Given the description of an element on the screen output the (x, y) to click on. 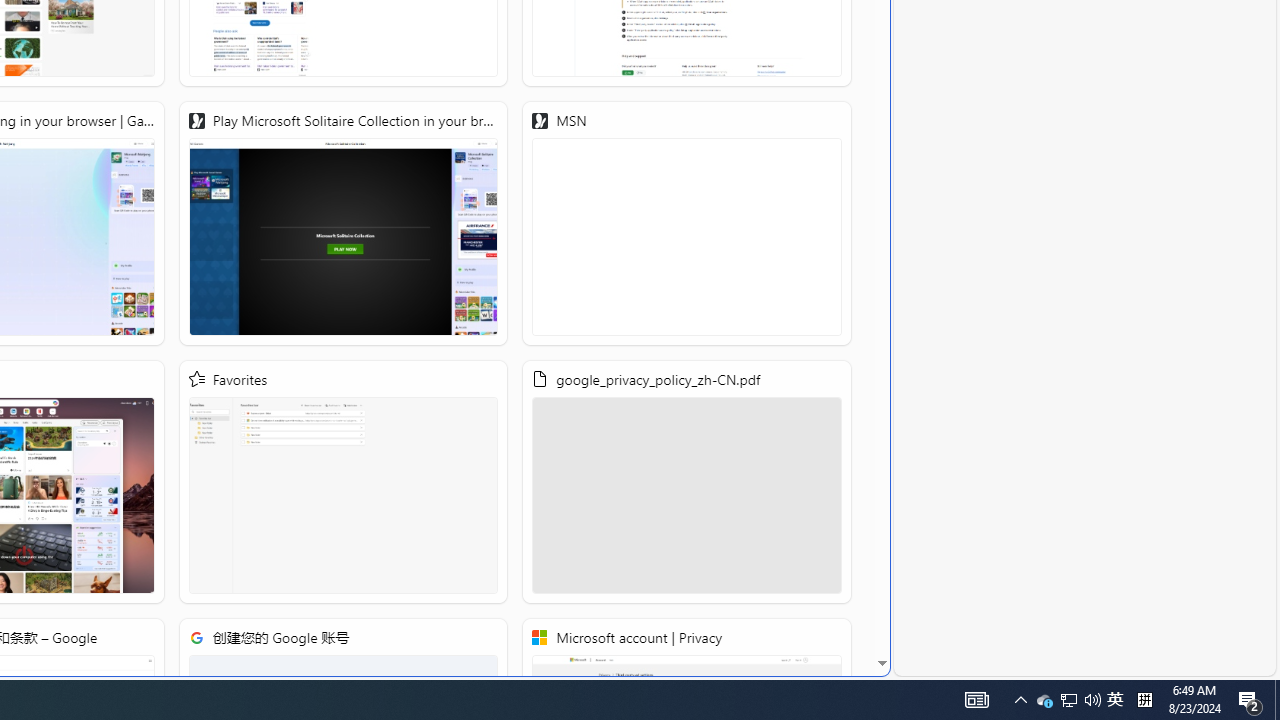
google_privacy_policy_zh-CN.pdf (687, 482)
